Given the description of an element on the screen output the (x, y) to click on. 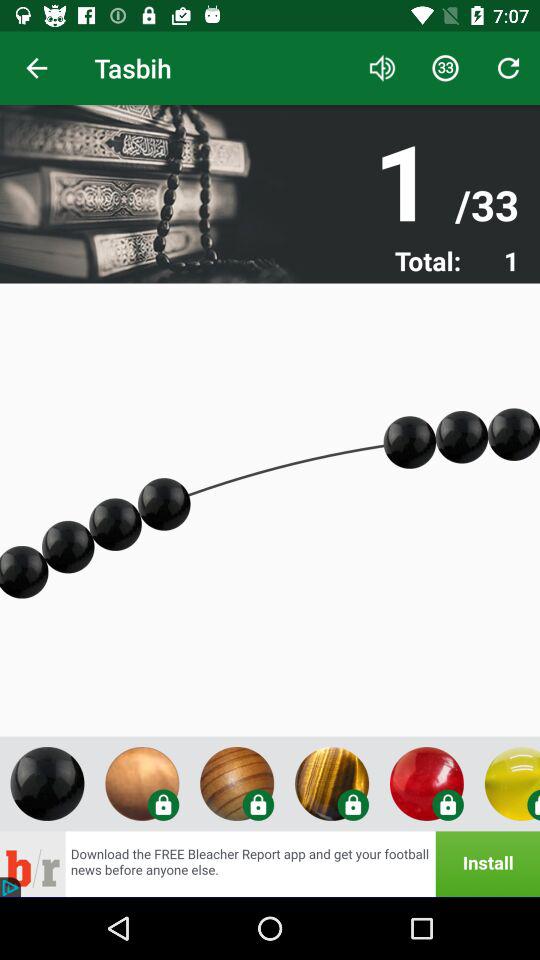
turn off item next to tasbih (36, 68)
